Given the description of an element on the screen output the (x, y) to click on. 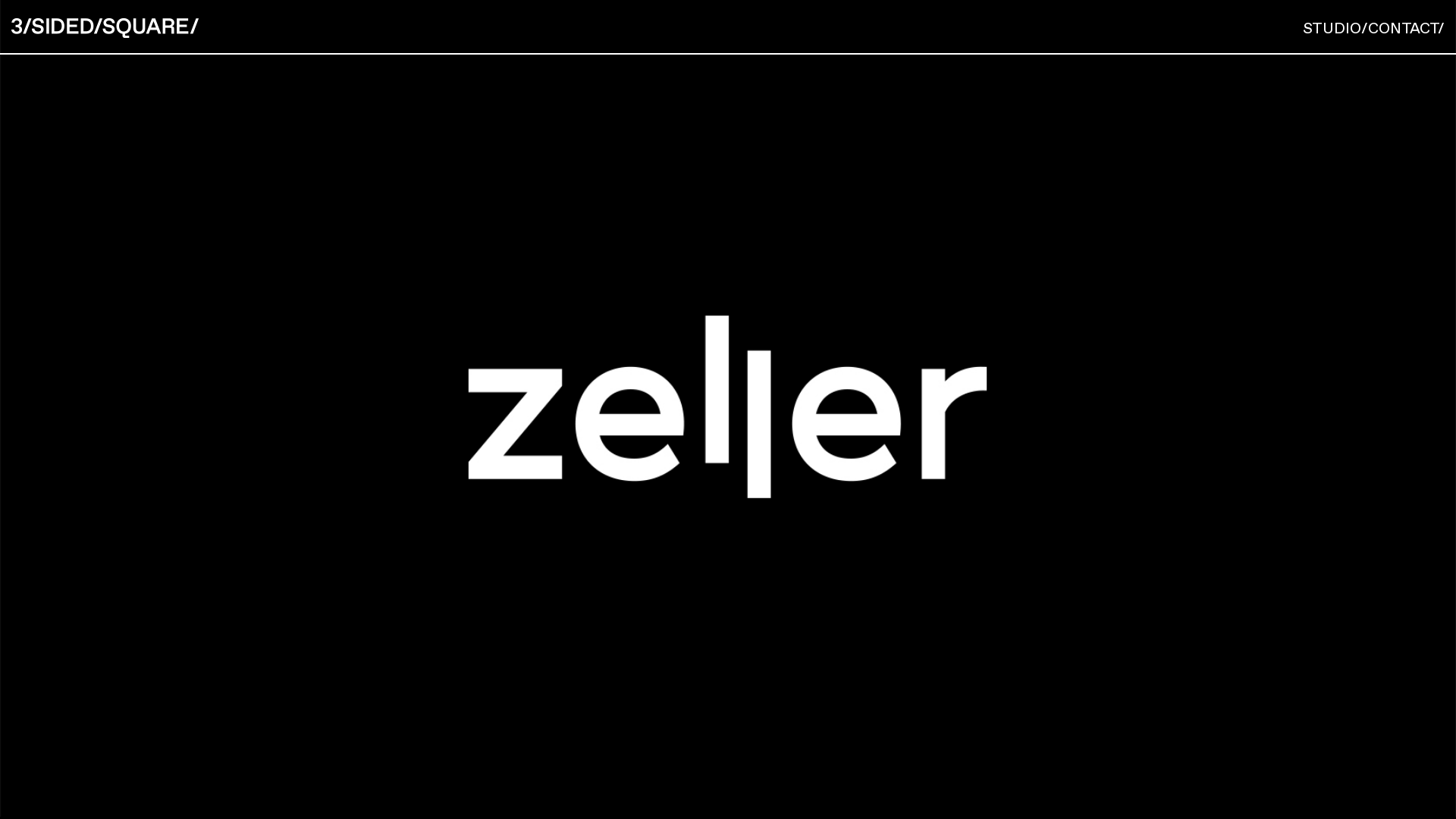
STUDIO/CONTACT/ Element type: text (1373, 27)
